Given the description of an element on the screen output the (x, y) to click on. 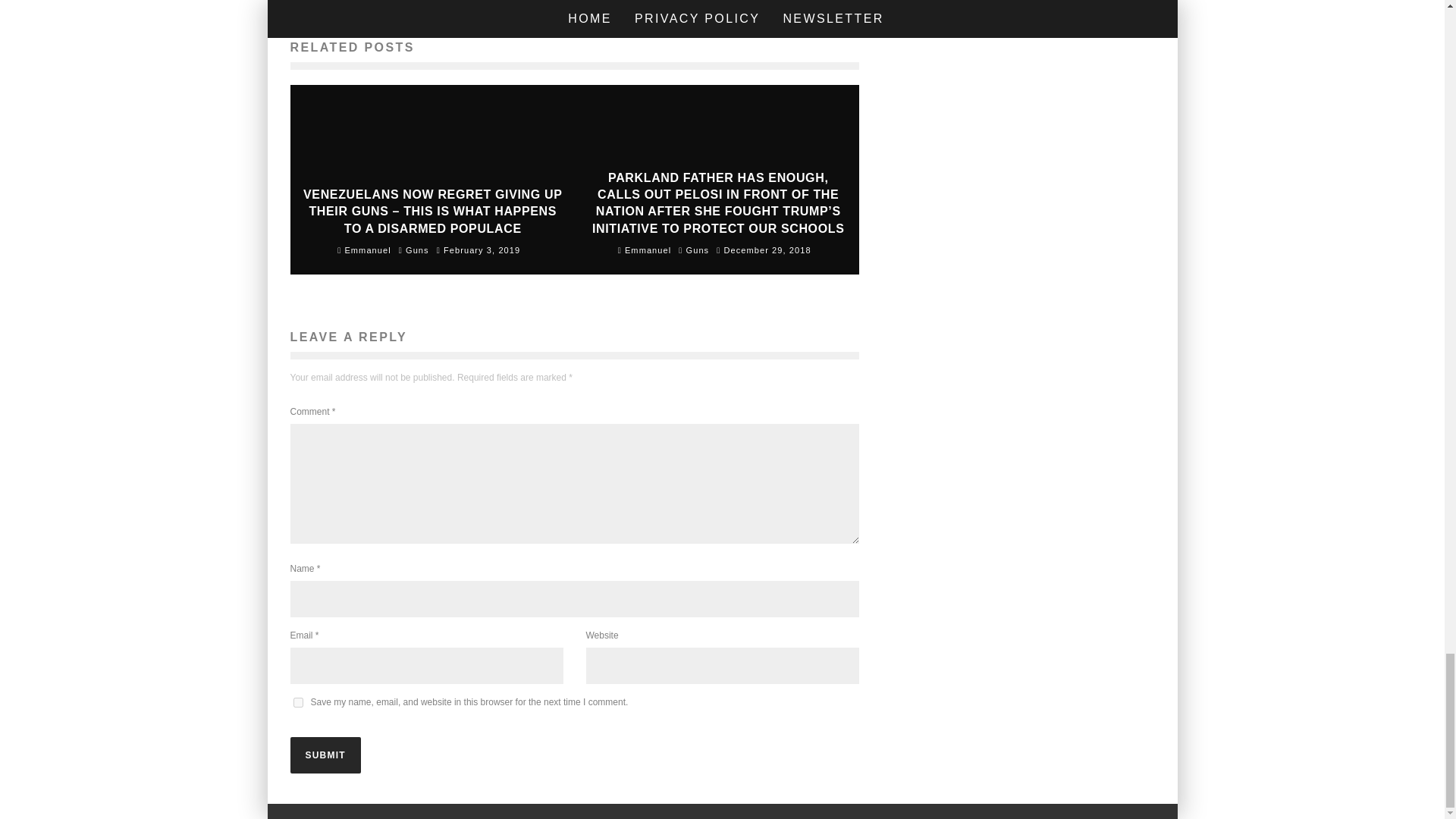
yes (297, 702)
Guns (697, 249)
Emmanuel (364, 249)
Submit (324, 755)
Submit (324, 755)
Emmanuel (644, 249)
Guns (417, 249)
